Given the description of an element on the screen output the (x, y) to click on. 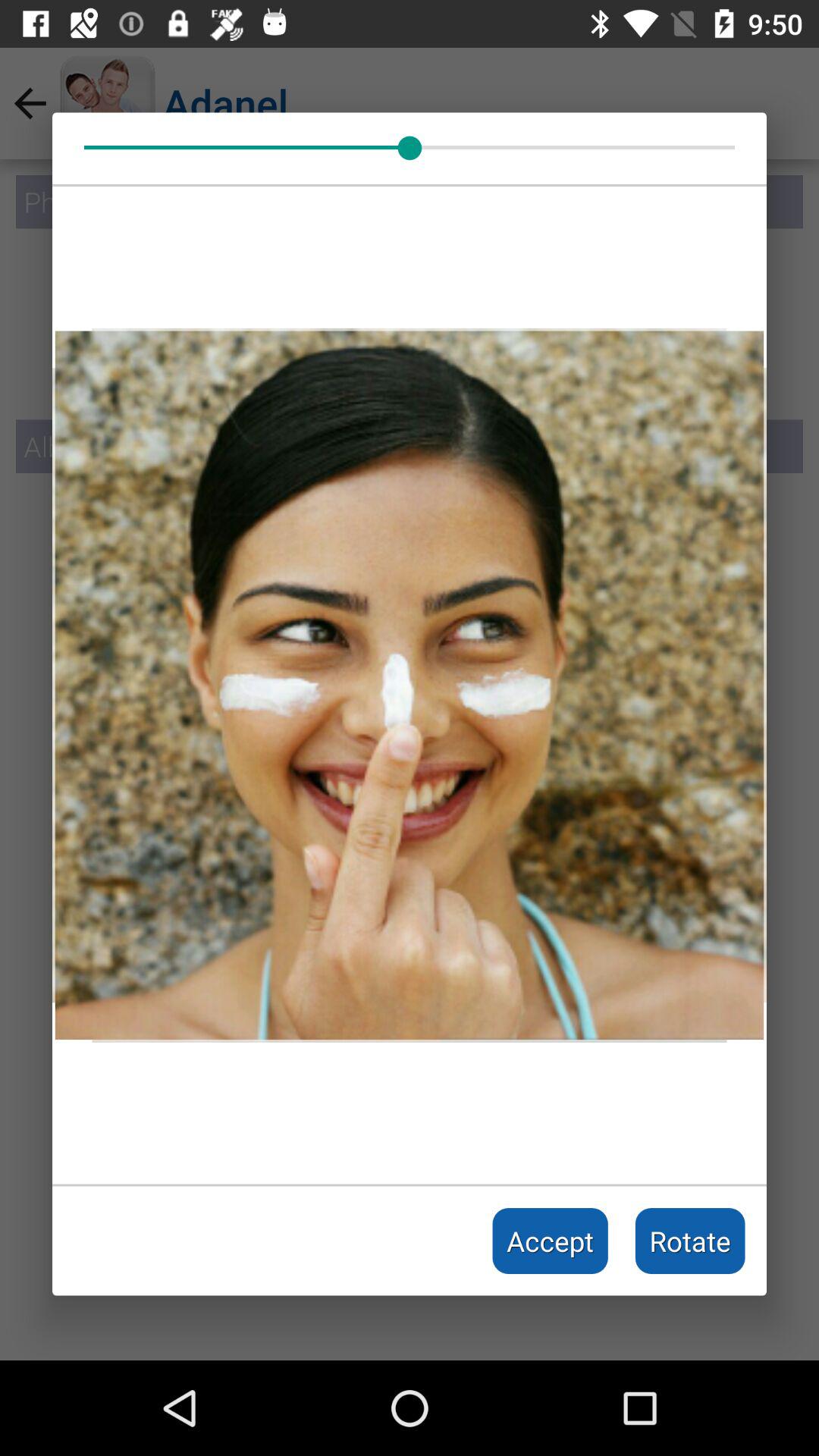
open the item to the right of the accept item (689, 1240)
